Given the description of an element on the screen output the (x, y) to click on. 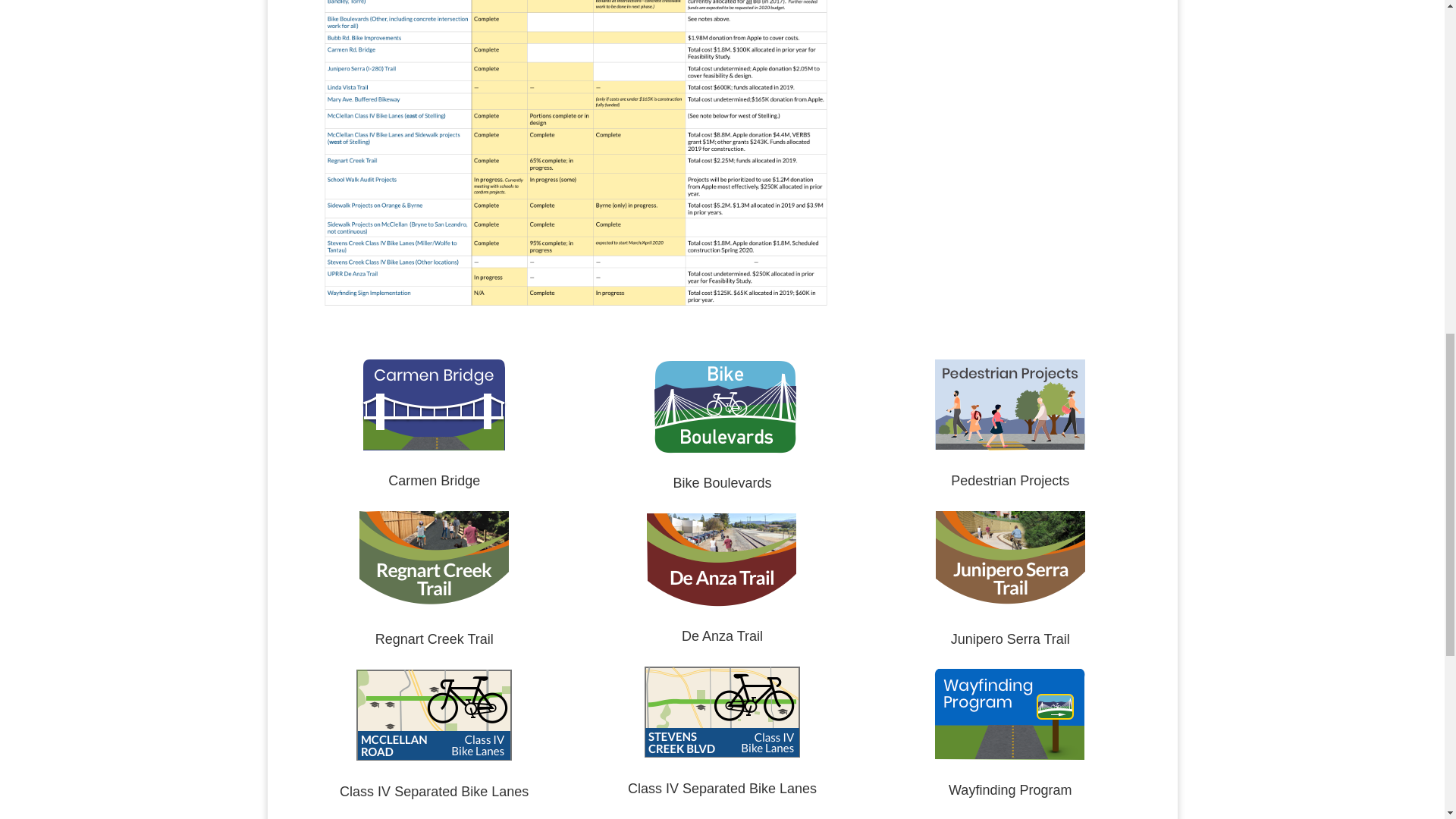
Carmen Bridge (434, 480)
Class IV Separated Bike Lanes (721, 788)
Bike Boulevards (721, 482)
Wayfinding Program (1010, 789)
Pedestrian Projects (1009, 480)
Class IV Separated Bike Lanes (433, 791)
Regnart Creek Trail (434, 639)
Junipero Serra Trail (1010, 639)
De Anza Trail (721, 635)
